Given the description of an element on the screen output the (x, y) to click on. 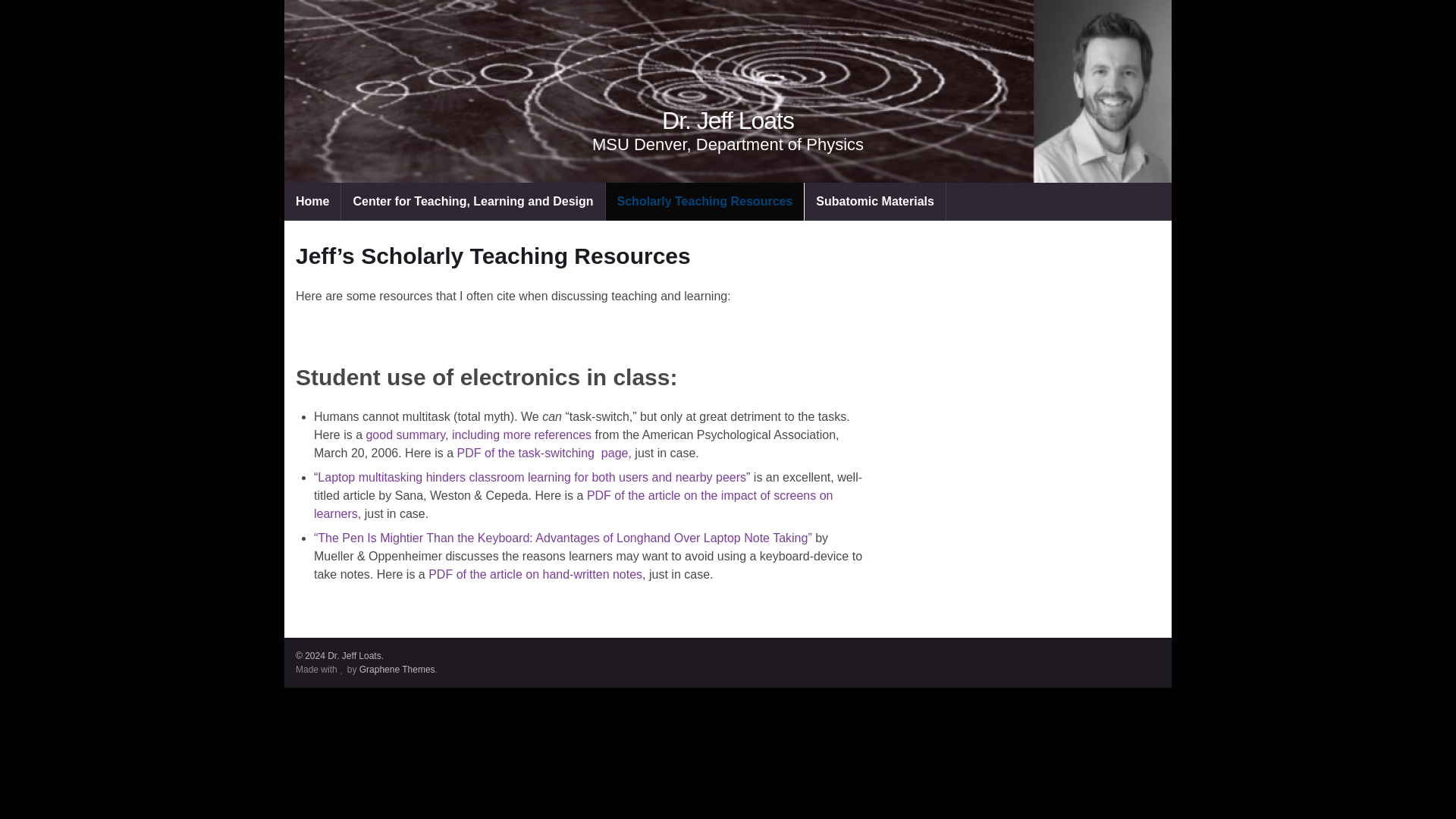
Center for Teaching, Learning and Design (472, 201)
Graphene Themes (397, 669)
PDF of the article on the impact of screens on learners (573, 504)
Dr. Jeff Loats (727, 120)
Go back to the front page (727, 120)
Scholarly Teaching Resources (705, 201)
Schedule (311, 201)
Subatomic Materials (874, 201)
